Given the description of an element on the screen output the (x, y) to click on. 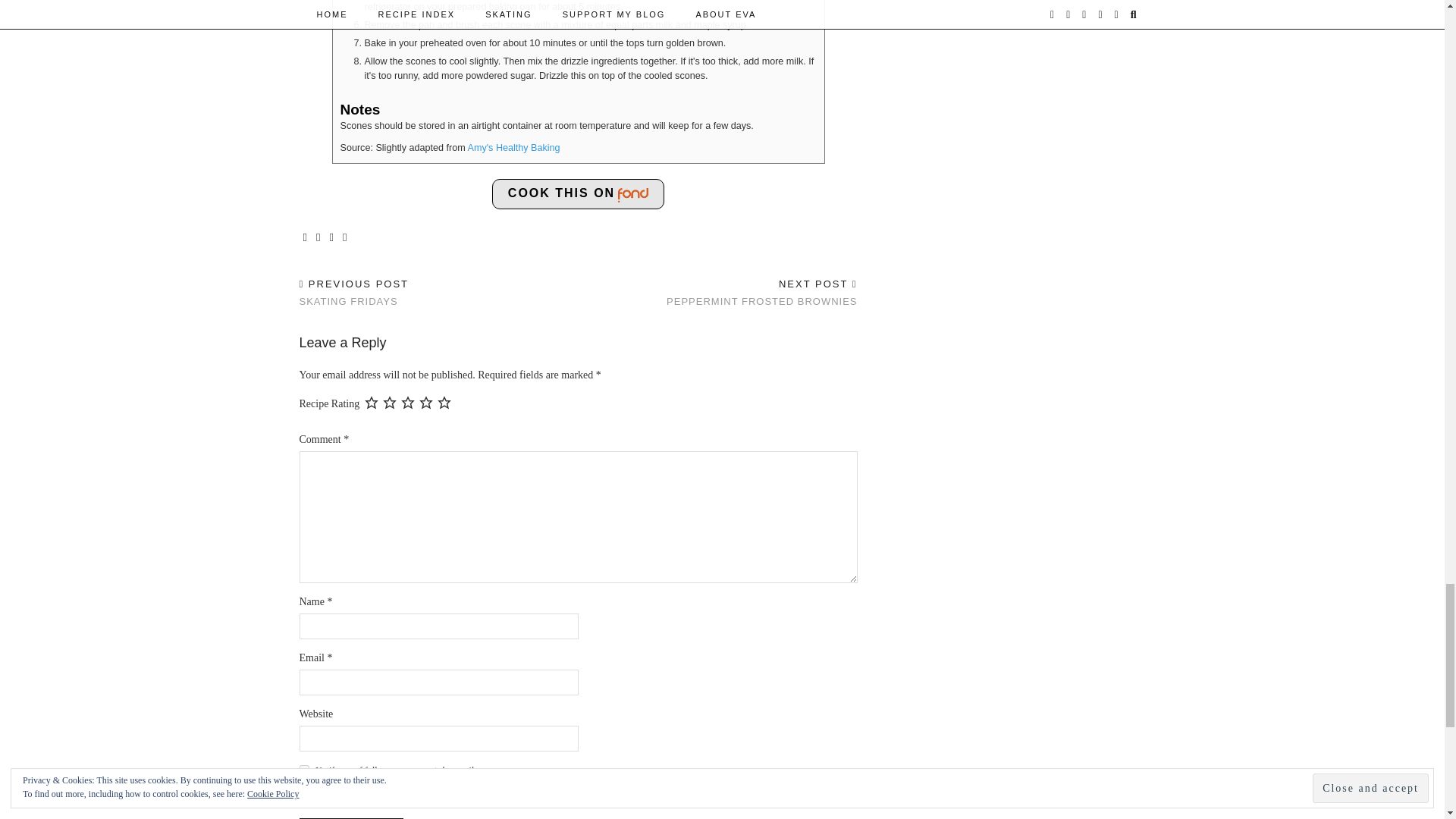
subscribe (303, 798)
subscribe (303, 769)
